Given the description of an element on the screen output the (x, y) to click on. 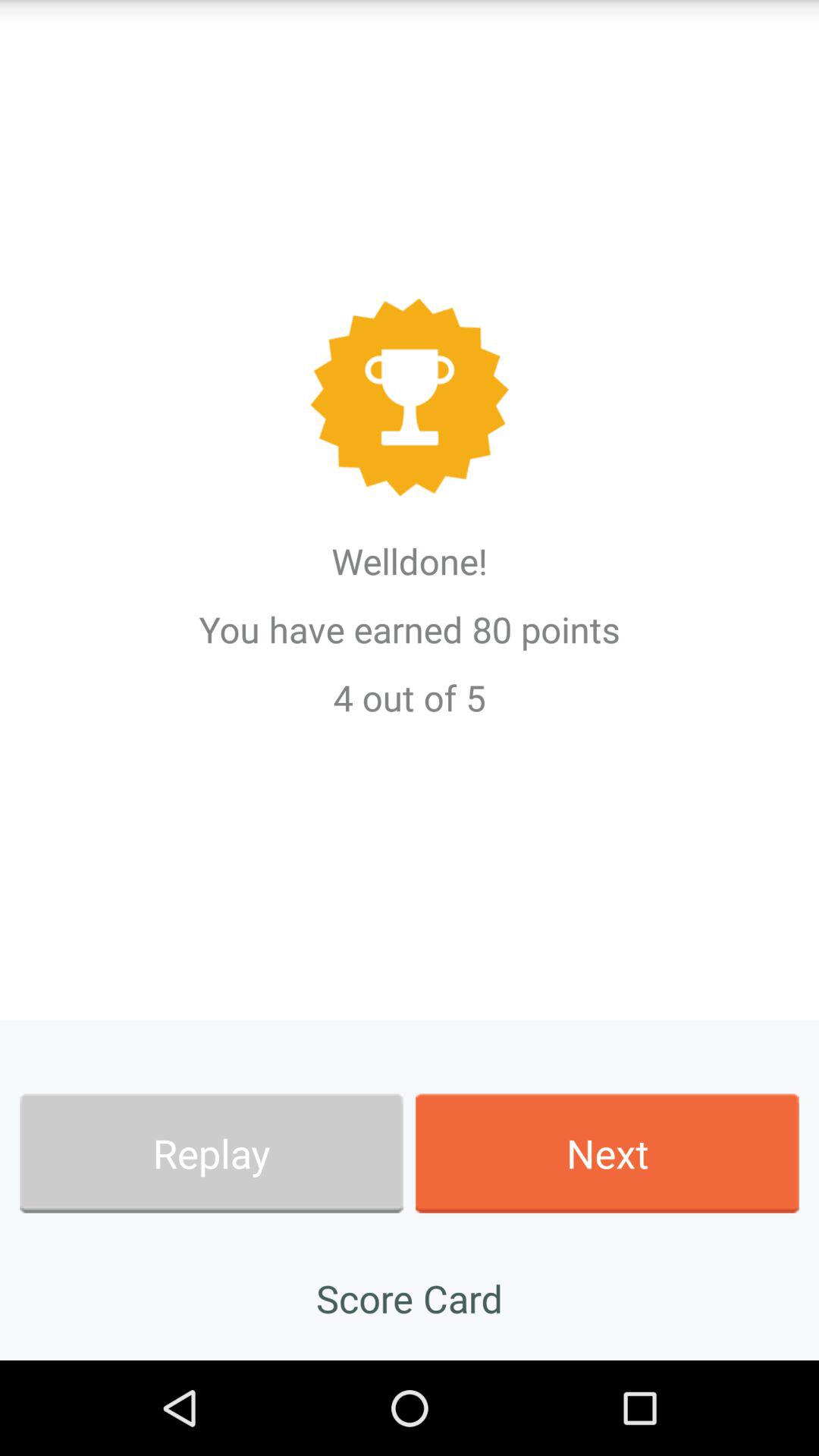
turn off app at the bottom right corner (607, 1153)
